Given the description of an element on the screen output the (x, y) to click on. 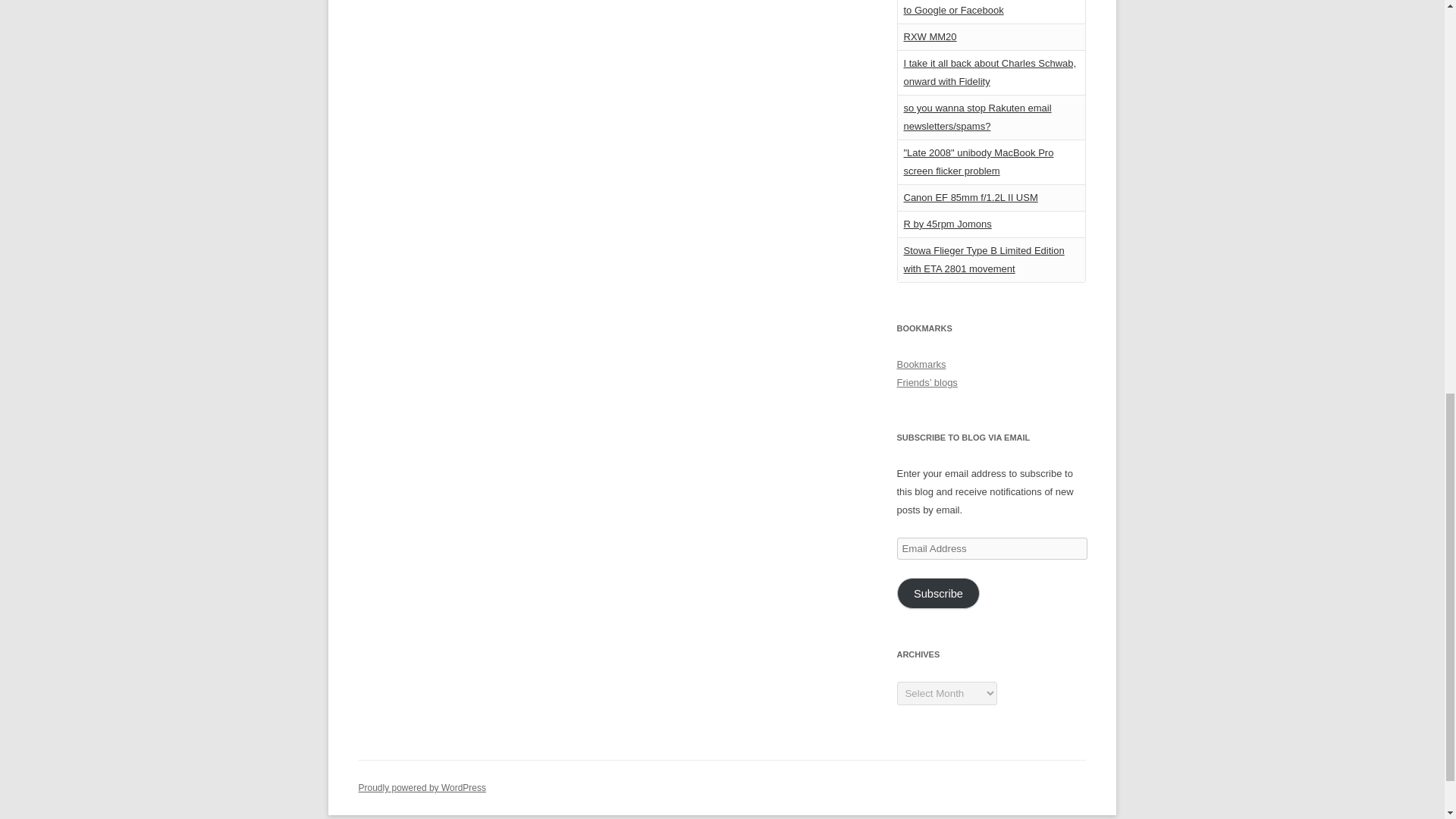
Comment Form (594, 89)
R by 45rpm Jomons (947, 224)
RXW MM20 (930, 36)
Stowa Flieger Type B Limited Edition with ETA 2801 movement (984, 259)
